Given the description of an element on the screen output the (x, y) to click on. 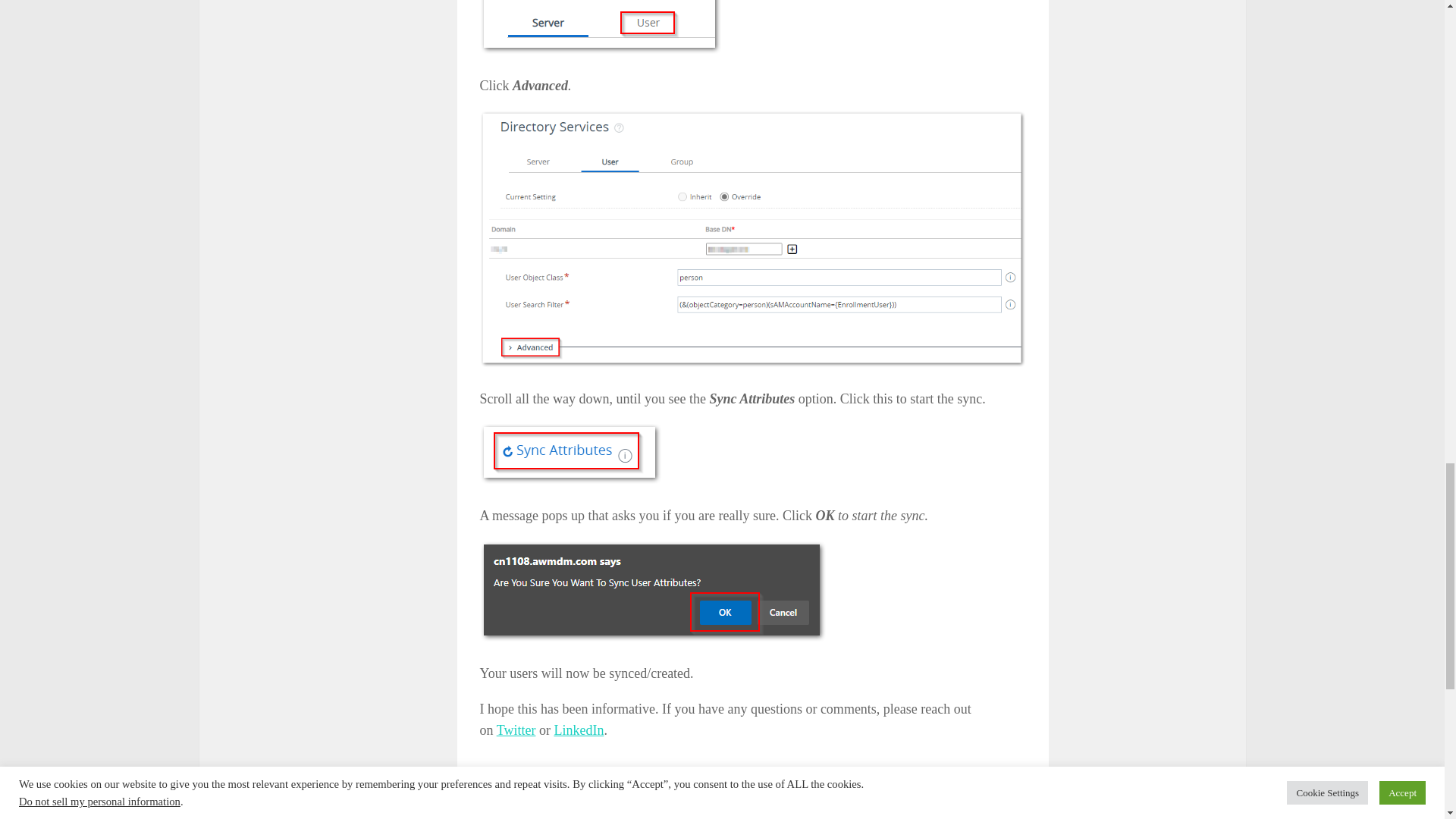
Twitter (515, 729)
workspace-one (690, 807)
LinkedIn (578, 729)
workspace-one-uem (770, 807)
sync (640, 807)
omnissa (603, 807)
active-directory (545, 807)
